Given the description of an element on the screen output the (x, y) to click on. 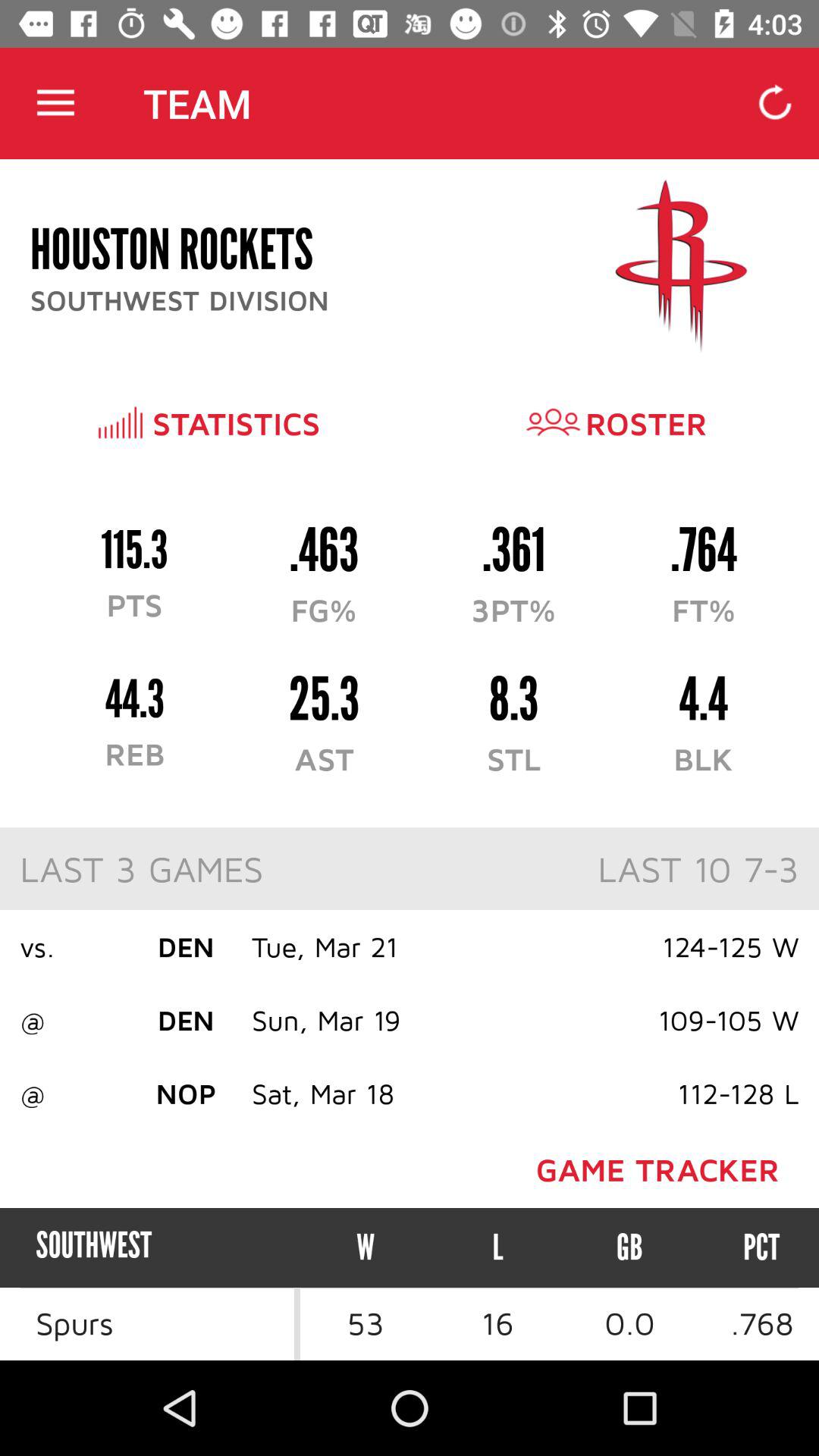
click on the icon left to roster (553, 422)
